Given the description of an element on the screen output the (x, y) to click on. 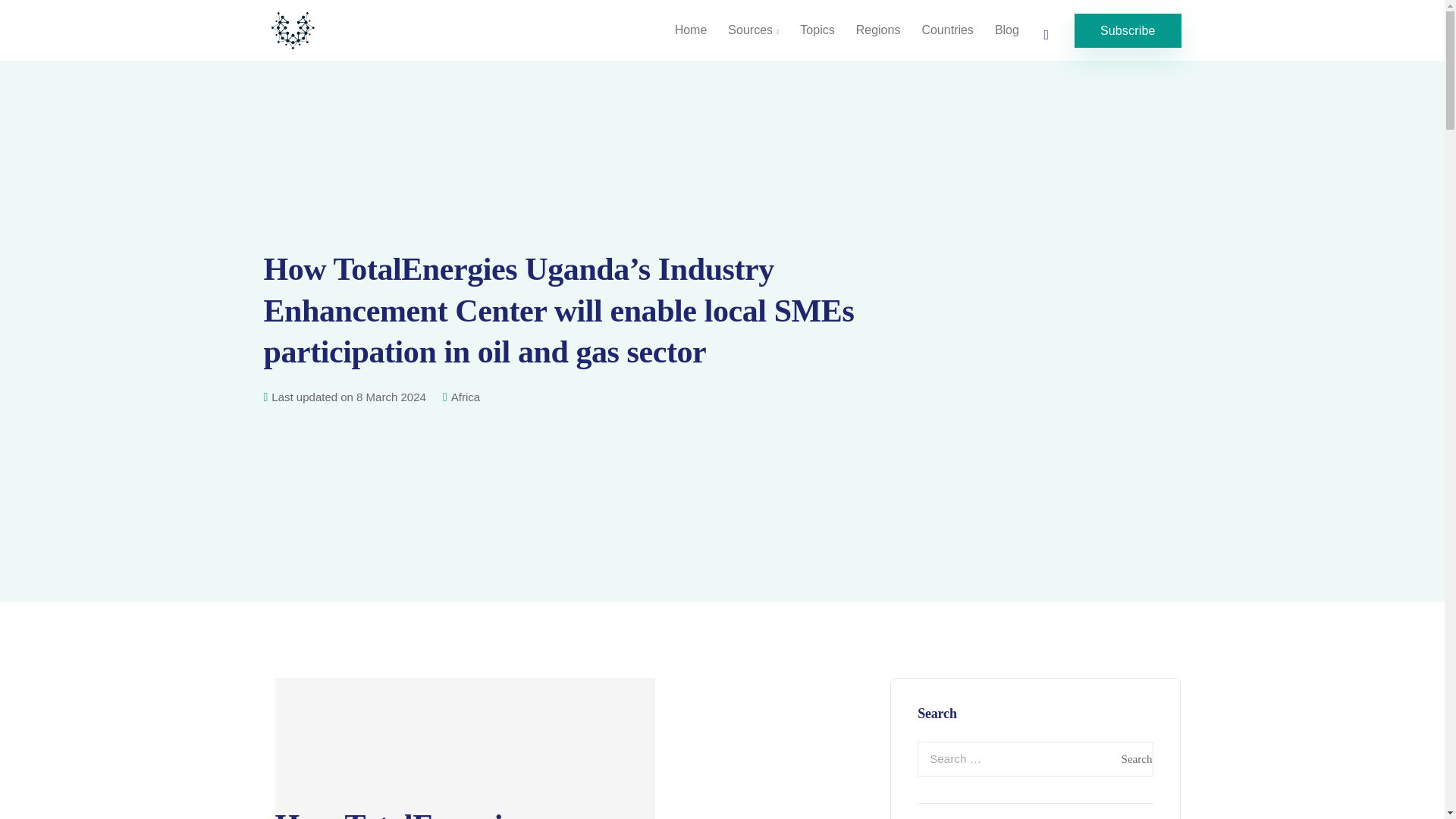
Home (690, 30)
Countries (947, 30)
Search (1136, 758)
Subscribe (1127, 30)
Topics (816, 30)
Africa (465, 396)
Search (1136, 758)
Search (1136, 758)
Blog (1006, 30)
Regions (878, 30)
Sources (753, 30)
